Given the description of an element on the screen output the (x, y) to click on. 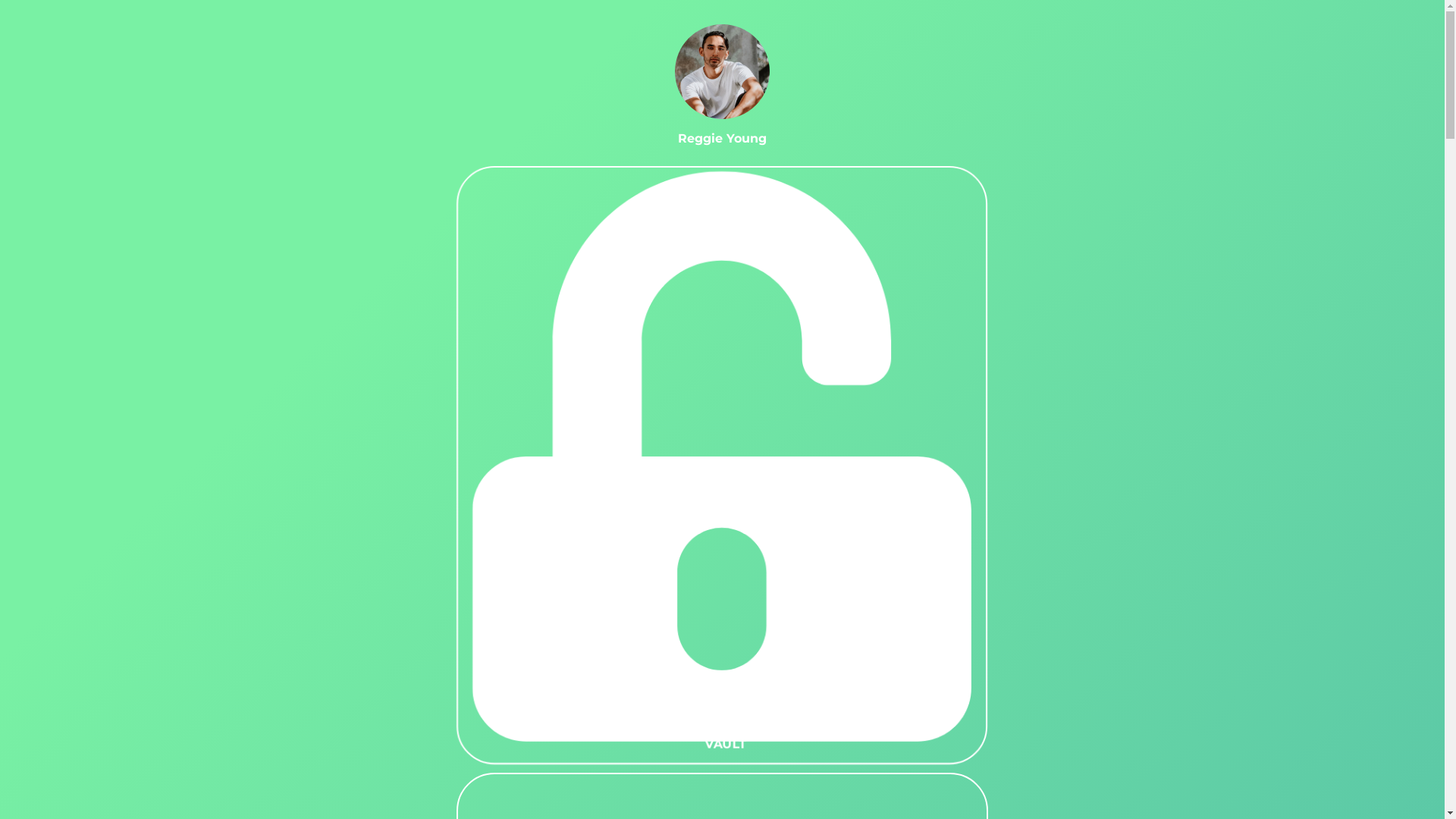
Reggie Young Element type: hover (721, 71)
VAULT Element type: text (721, 465)
